Given the description of an element on the screen output the (x, y) to click on. 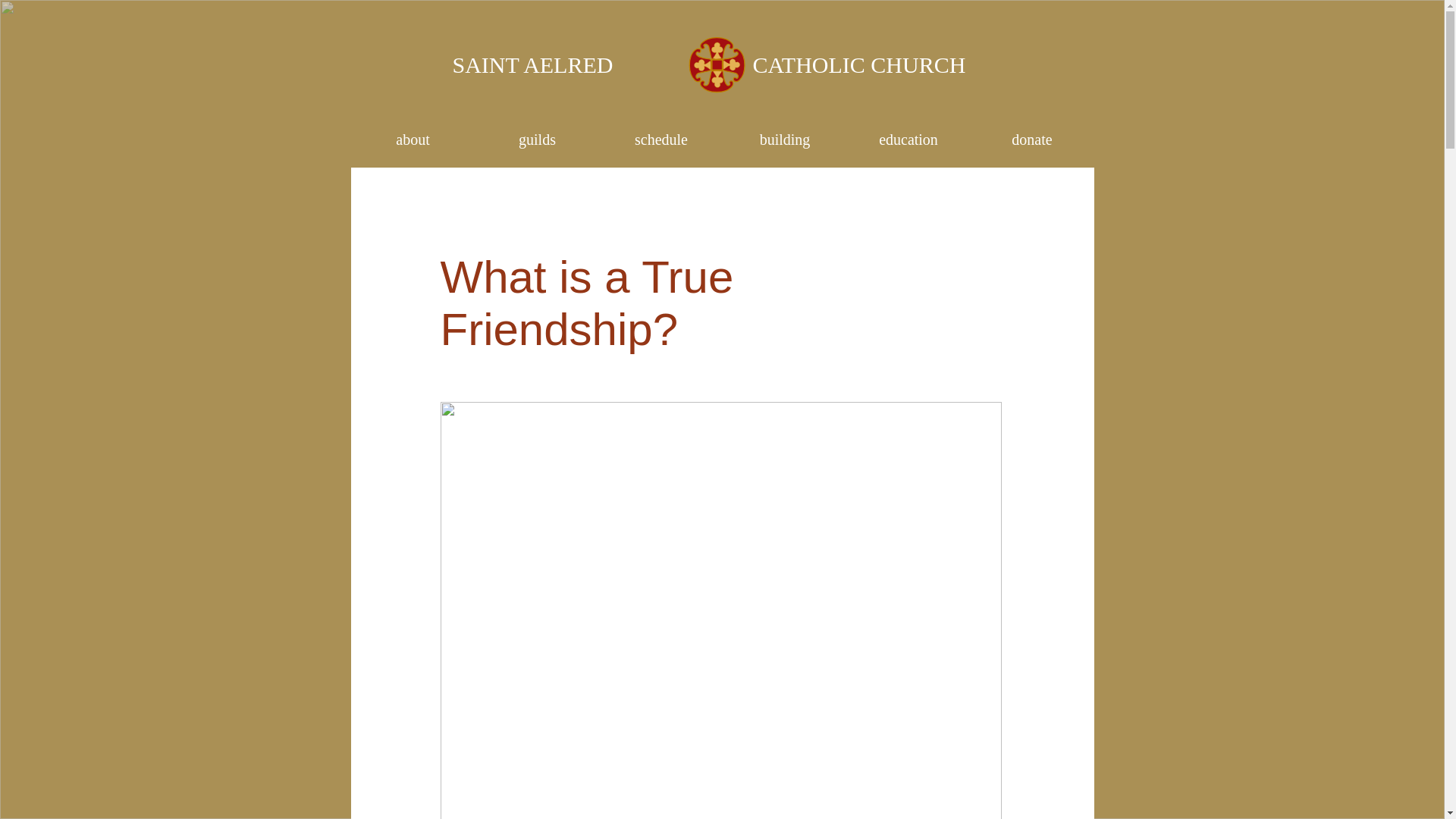
CATHOLIC CHURCH (858, 62)
about (412, 139)
donate (1032, 139)
education (907, 139)
schedule (660, 139)
guilds (536, 139)
SAINT AELRED (531, 62)
building (785, 139)
